Given the description of an element on the screen output the (x, y) to click on. 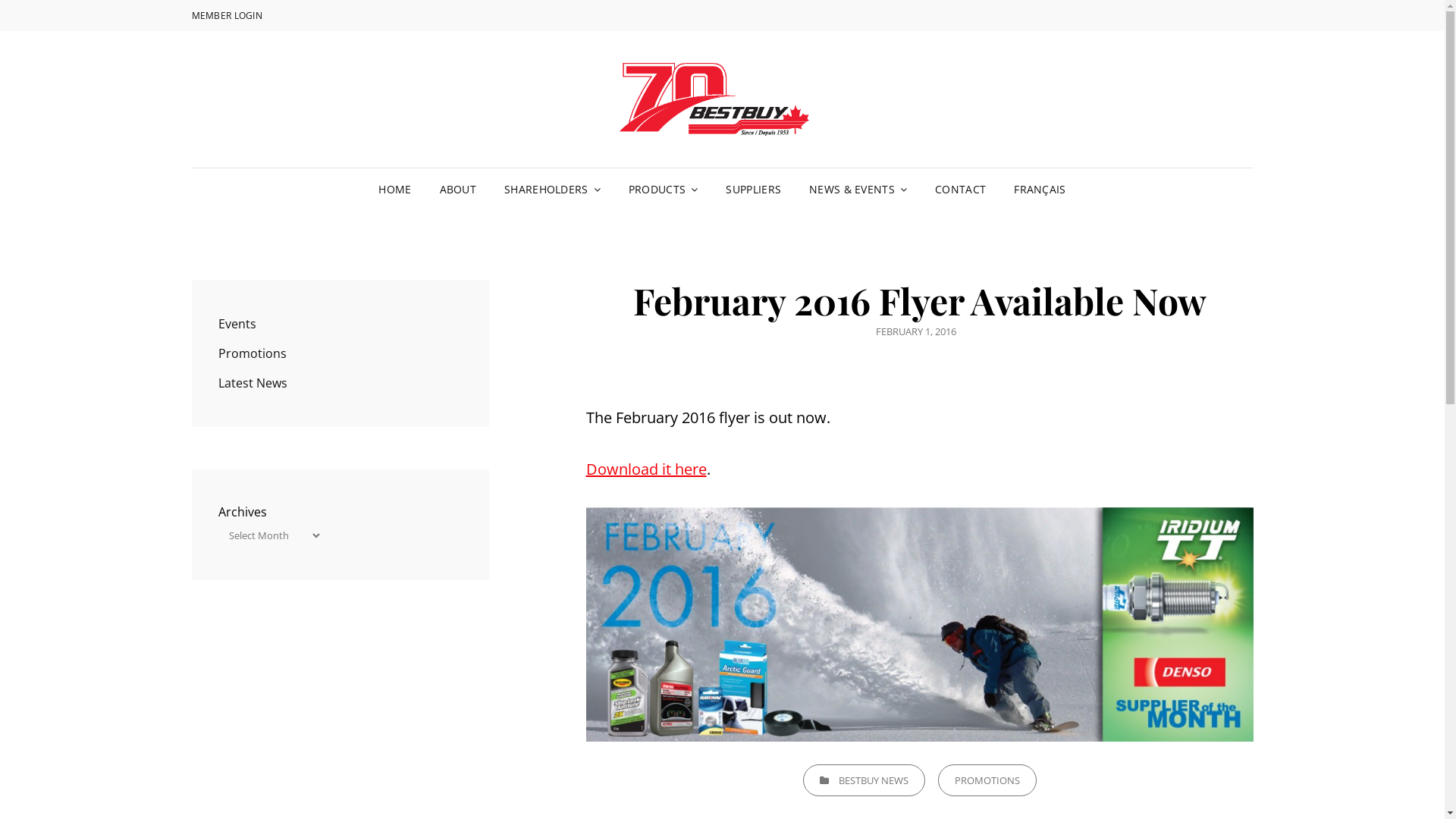
SHAREHOLDERS Element type: text (552, 189)
Download it here Element type: text (645, 468)
Events Element type: text (237, 323)
Latest News Element type: text (252, 382)
SUPPLIERS Element type: text (753, 189)
HOME Element type: text (394, 189)
ABOUT Element type: text (457, 189)
CONTACT Element type: text (959, 189)
FEBRUARY 1, 2016 Element type: text (915, 331)
BESTBUY NEWS Element type: text (863, 780)
PRODUCTS Element type: text (663, 189)
NEWS & EVENTS Element type: text (858, 189)
MEMBER LOGIN Element type: text (226, 15)
Promotions Element type: text (252, 353)
BESTBUY DISTRIBUTORS LIMITED Element type: text (1134, 142)
PROMOTIONS Element type: text (986, 780)
